Given the description of an element on the screen output the (x, y) to click on. 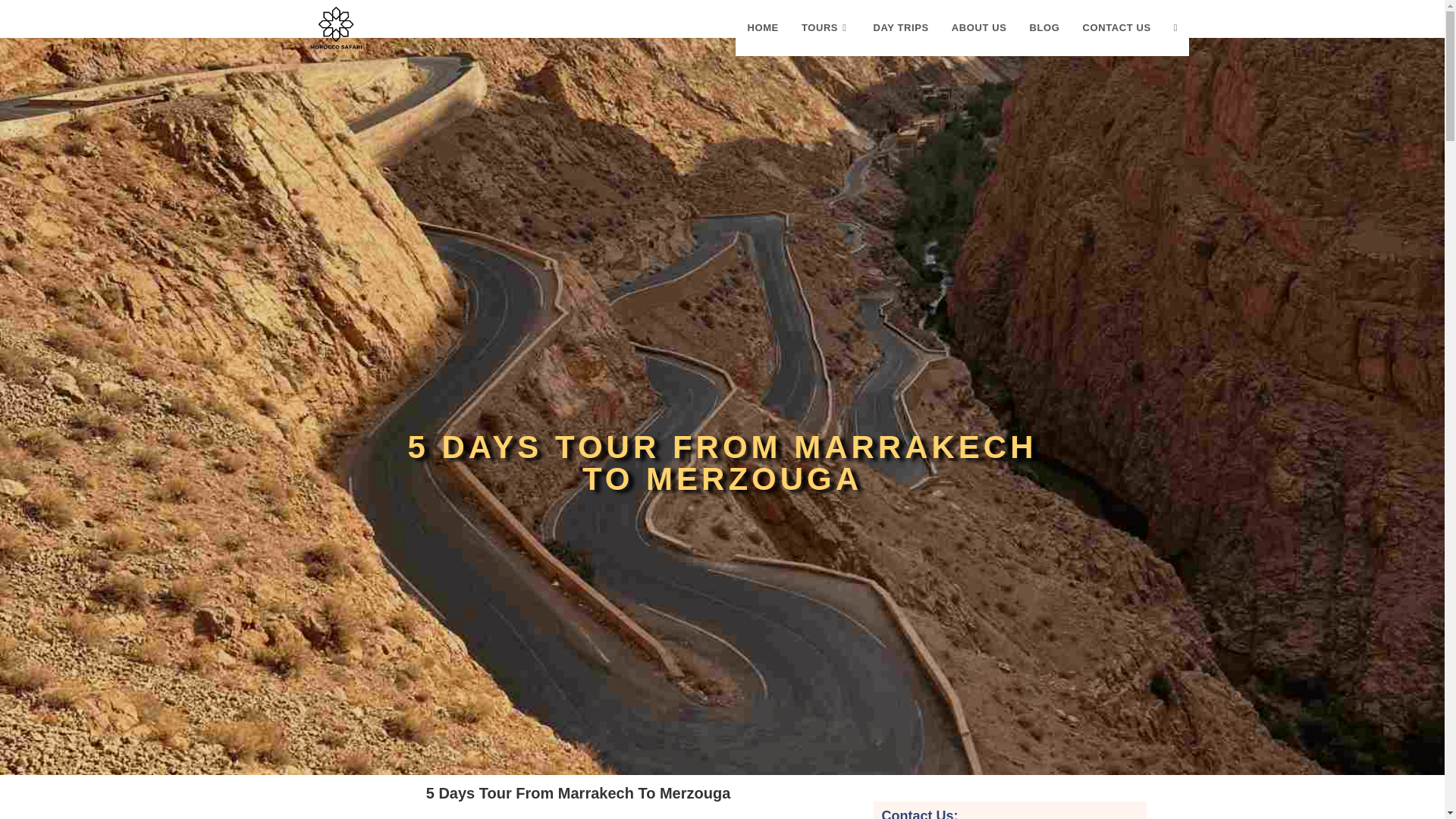
TOURS (825, 28)
HOME (762, 28)
ABOUT US (978, 28)
CONTACT US (1115, 28)
BLOG (1044, 28)
DAY TRIPS (900, 28)
